Given the description of an element on the screen output the (x, y) to click on. 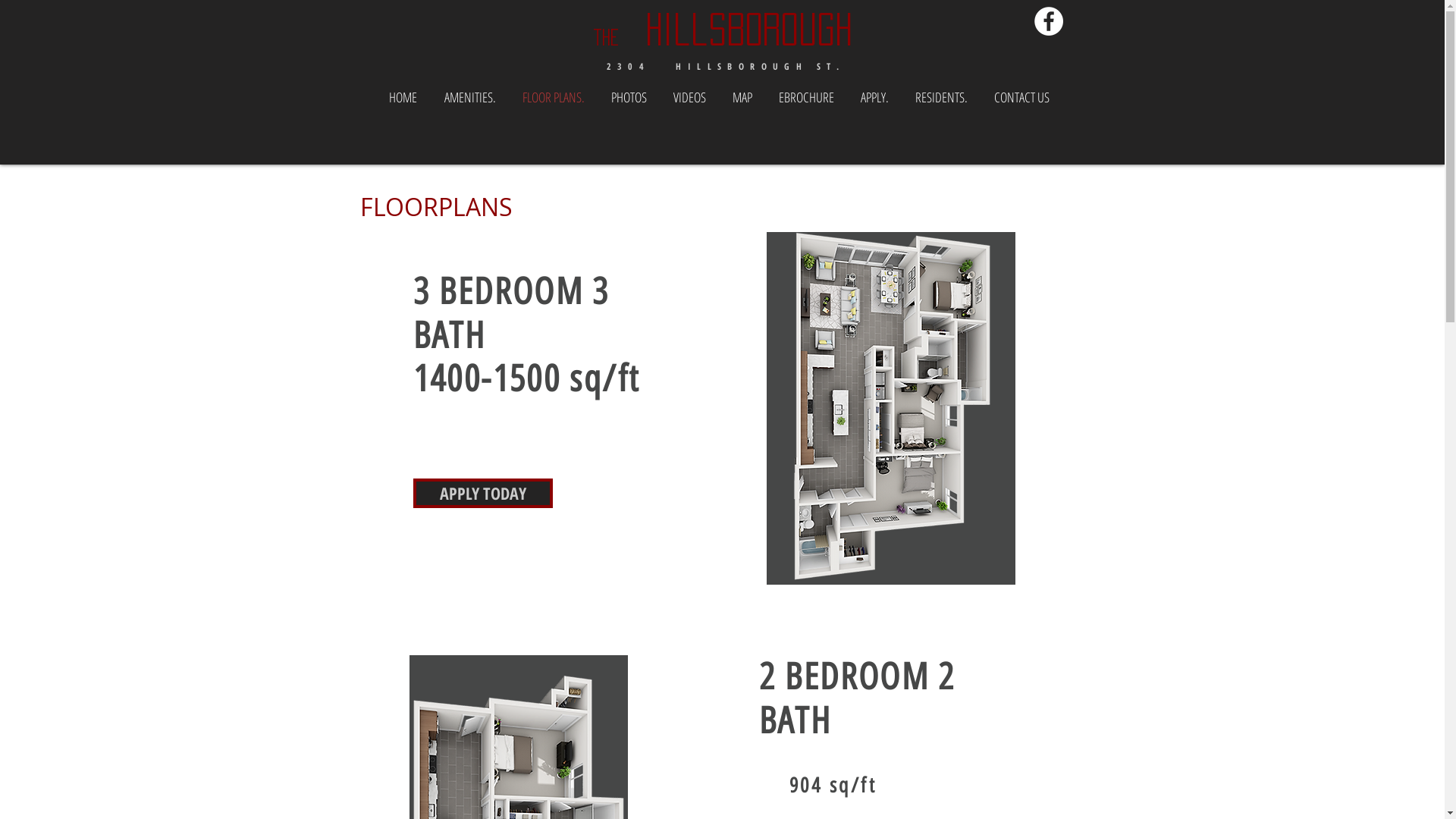
APPLY TODAY Element type: text (482, 493)
the Element type: text (606, 37)
AMENITIES. Element type: text (469, 97)
EBROCHURE Element type: text (806, 97)
PHOTOS Element type: text (628, 97)
FLOOR PLANS. Element type: text (553, 97)
CONTACT US Element type: text (1022, 97)
HOME Element type: text (401, 97)
APPLY. Element type: text (874, 97)
 hillsborough Element type: text (735, 28)
RESIDENTS. Element type: text (941, 97)
VIDEOS Element type: text (688, 97)
MAP Element type: text (741, 97)
